Given the description of an element on the screen output the (x, y) to click on. 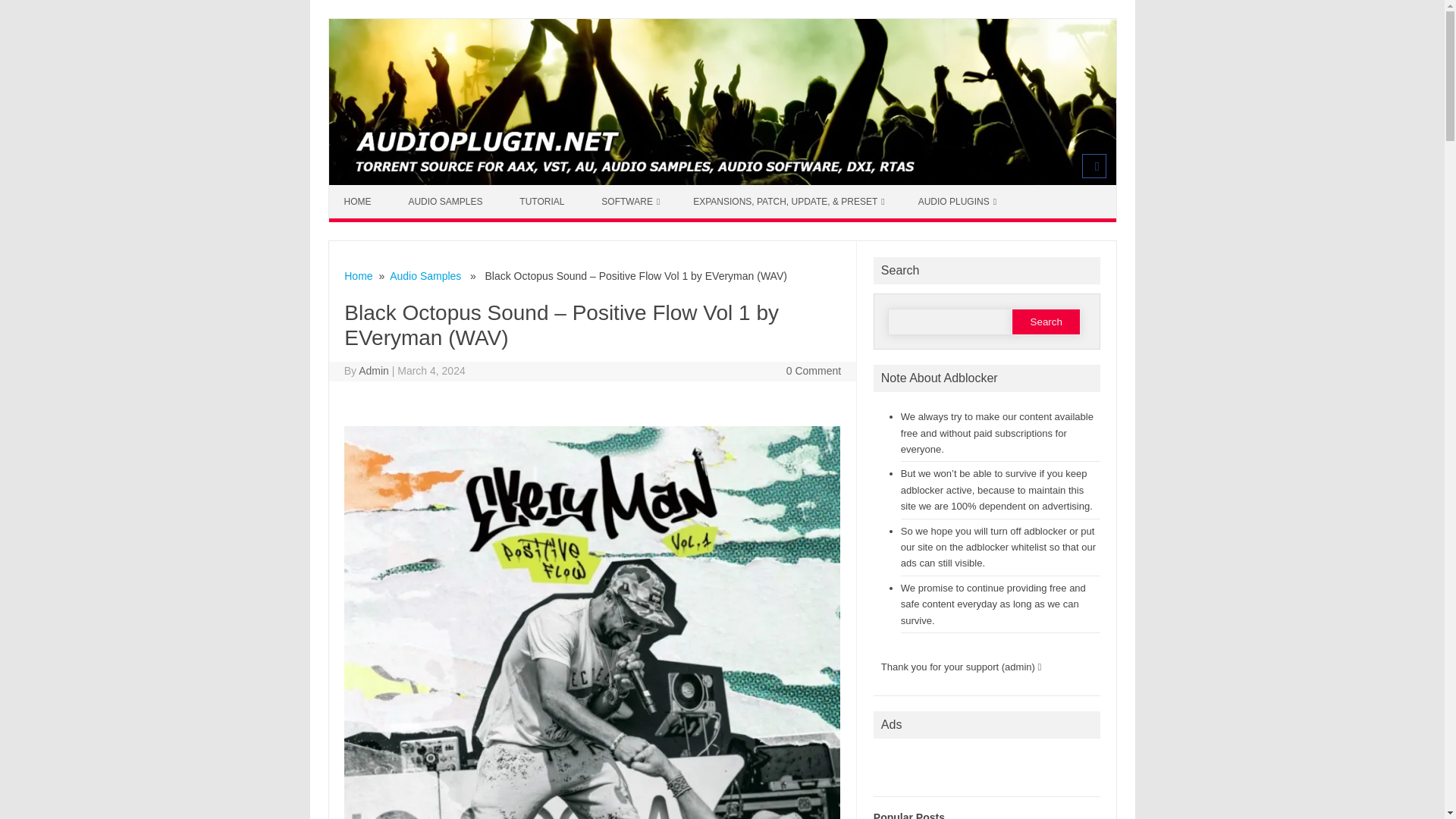
Audio Samples (425, 275)
HOME (359, 201)
Posts by Admin (373, 370)
TUTORIAL (543, 201)
AUDIO PLUGINS (956, 201)
Search (1045, 321)
Skip to content (363, 190)
Skip to content (363, 190)
0 Comment (813, 370)
SOFTWARE (630, 201)
